Given the description of an element on the screen output the (x, y) to click on. 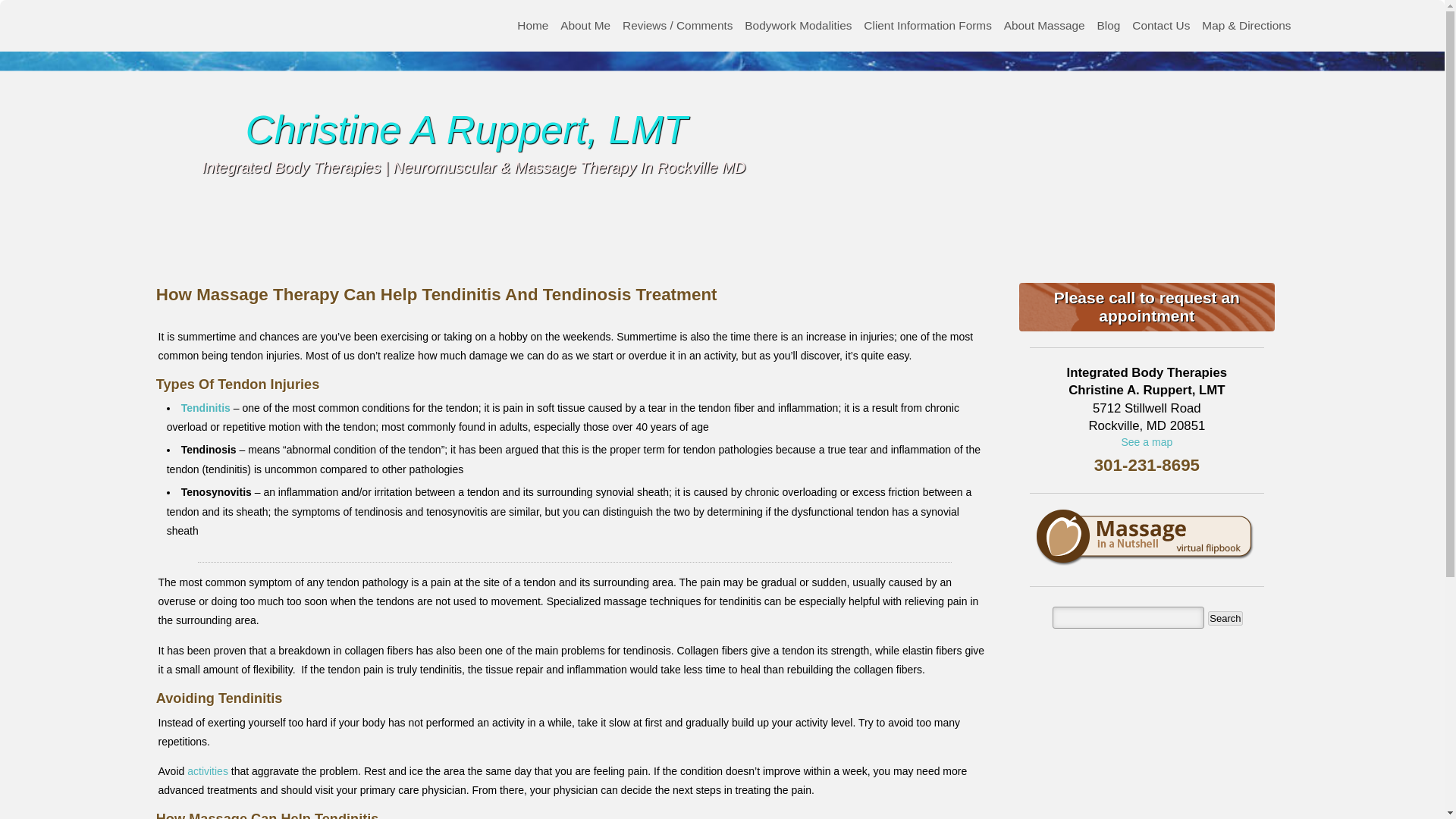
Search (1224, 617)
Home (532, 25)
Bodywork Modalities (797, 25)
Search (1224, 617)
About Me (585, 25)
activities (207, 770)
Client Information Forms (927, 25)
Contact Us (1159, 25)
Tendinitis (205, 408)
About Massage (1043, 25)
See a map (1146, 441)
Blog (1109, 25)
Please call to request an appointment (1147, 306)
